Given the description of an element on the screen output the (x, y) to click on. 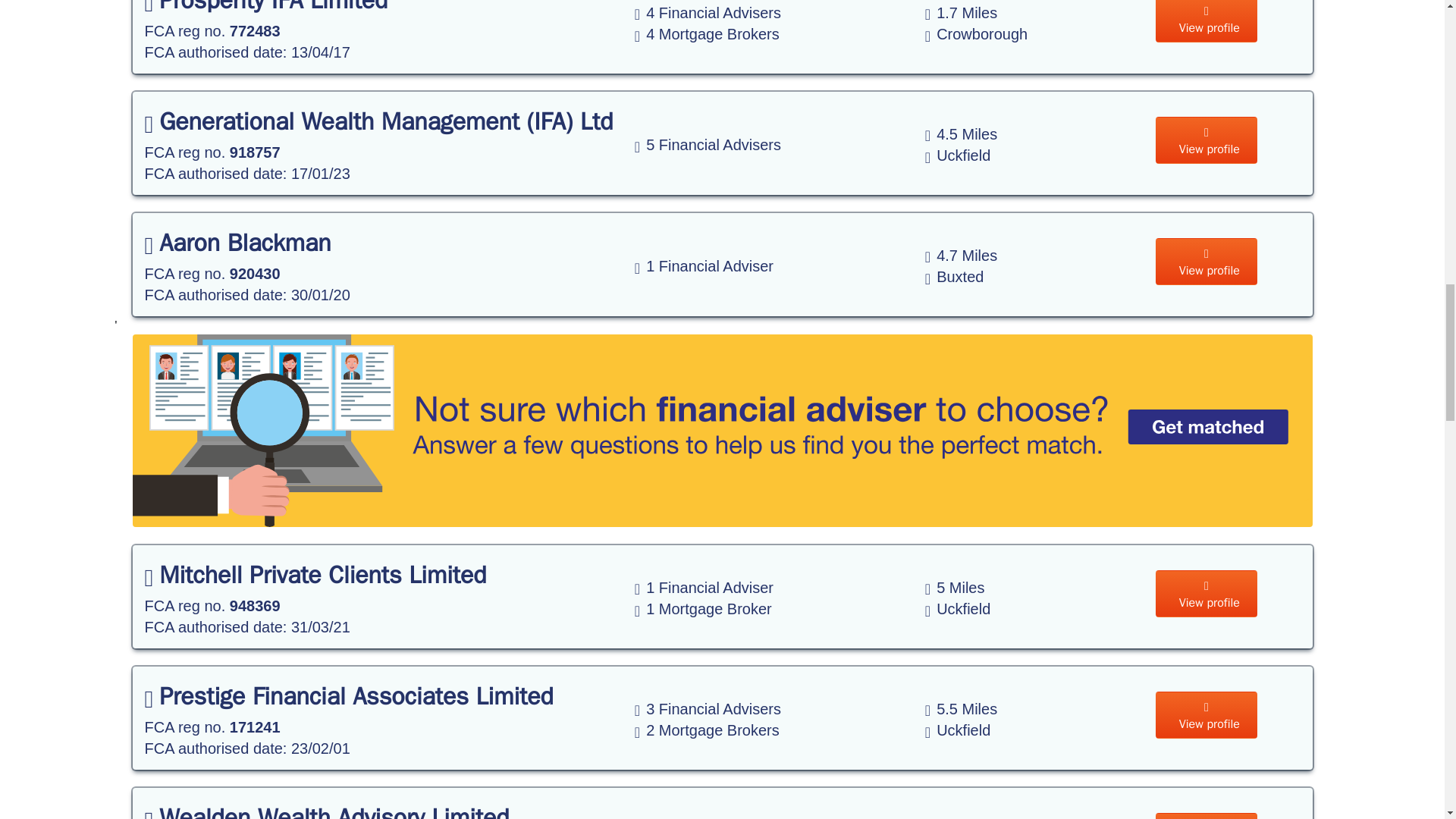
Mitchell Private Clients Limited (315, 574)
772483 (255, 30)
View profile (1206, 261)
View profile (1206, 140)
Prosperity IFA Limited (265, 7)
920430 (255, 273)
View profile (1206, 21)
Aaron Blackman (237, 242)
918757 (255, 152)
